Given the description of an element on the screen output the (x, y) to click on. 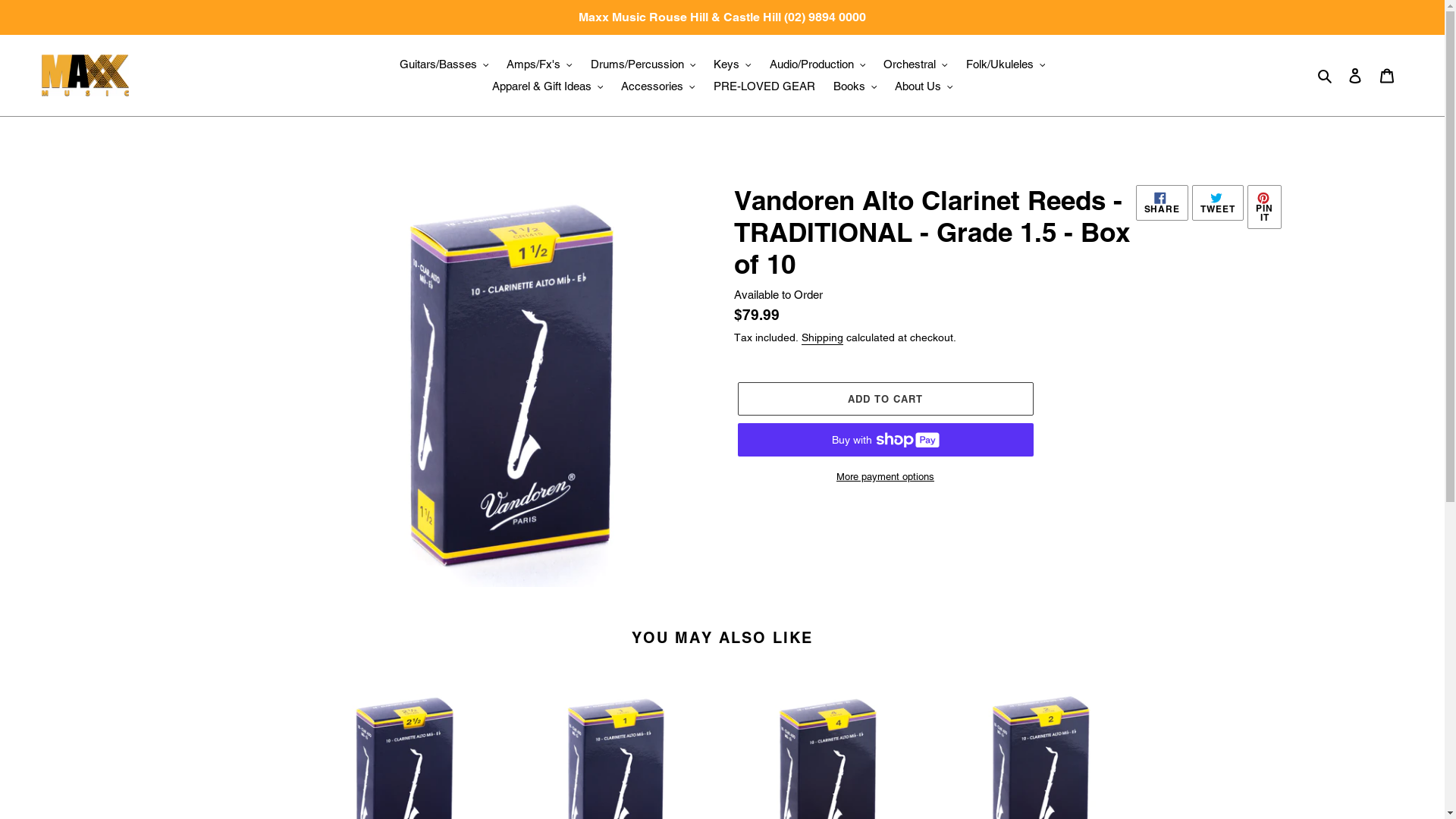
Audio/Production Element type: text (817, 64)
Folk/Ukuleles Element type: text (1005, 64)
Log in Element type: text (1355, 75)
Accessories Element type: text (657, 86)
Cart Element type: text (1386, 75)
About Us Element type: text (923, 86)
Shipping Element type: text (821, 338)
Search Element type: text (1325, 74)
Maxx Music Rouse Hill & Castle Hill (02) 9894 0000 Element type: text (722, 17)
SHARE
SHARE ON FACEBOOK Element type: text (1162, 202)
Guitars/Basses Element type: text (444, 64)
Keys Element type: text (732, 64)
TWEET
TWEET ON TWITTER Element type: text (1217, 202)
ADD TO CART Element type: text (884, 398)
More payment options Element type: text (884, 476)
Drums/Percussion Element type: text (643, 64)
Orchestral Element type: text (915, 64)
PIN IT
PIN ON PINTEREST Element type: text (1264, 207)
Amps/Fx's Element type: text (539, 64)
Apparel & Gift Ideas Element type: text (546, 86)
PRE-LOVED GEAR Element type: text (763, 86)
Books Element type: text (854, 86)
